Given the description of an element on the screen output the (x, y) to click on. 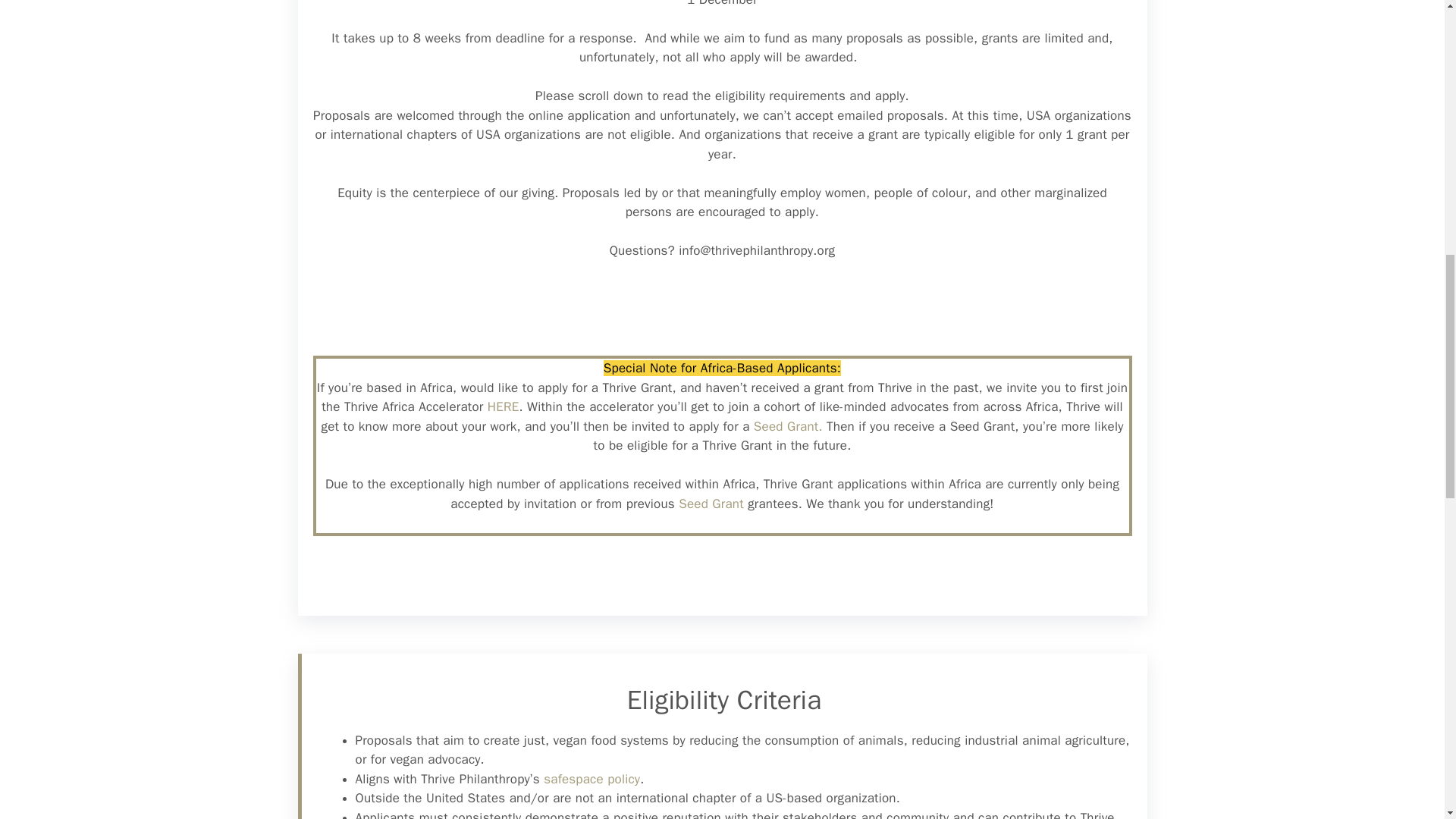
HERE (503, 406)
Seed Grant. (788, 426)
